Given the description of an element on the screen output the (x, y) to click on. 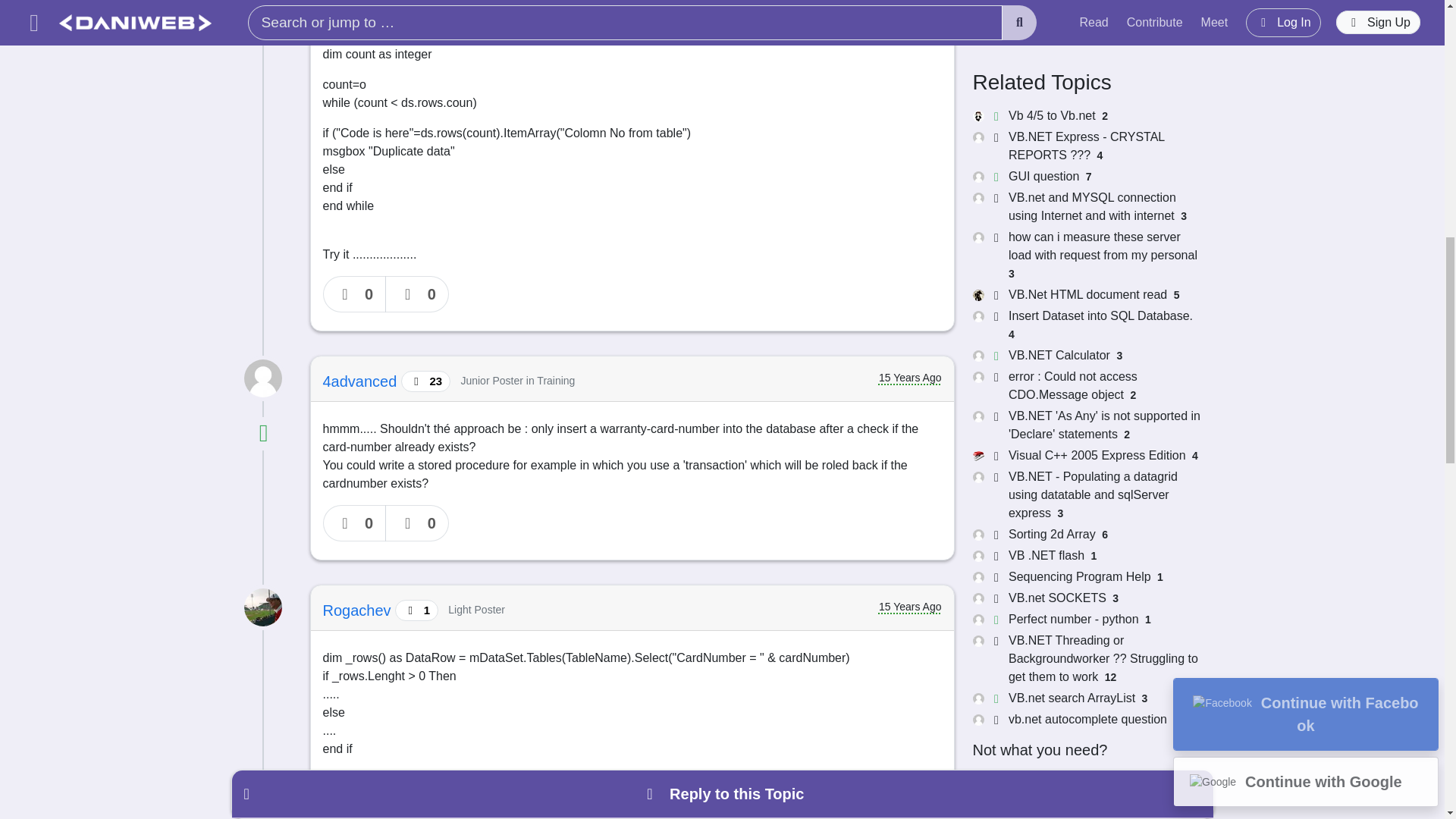
0 (416, 294)
4advanced (362, 381)
Rogachev (359, 610)
0 (355, 294)
0 (355, 523)
0 (416, 523)
